Given the description of an element on the screen output the (x, y) to click on. 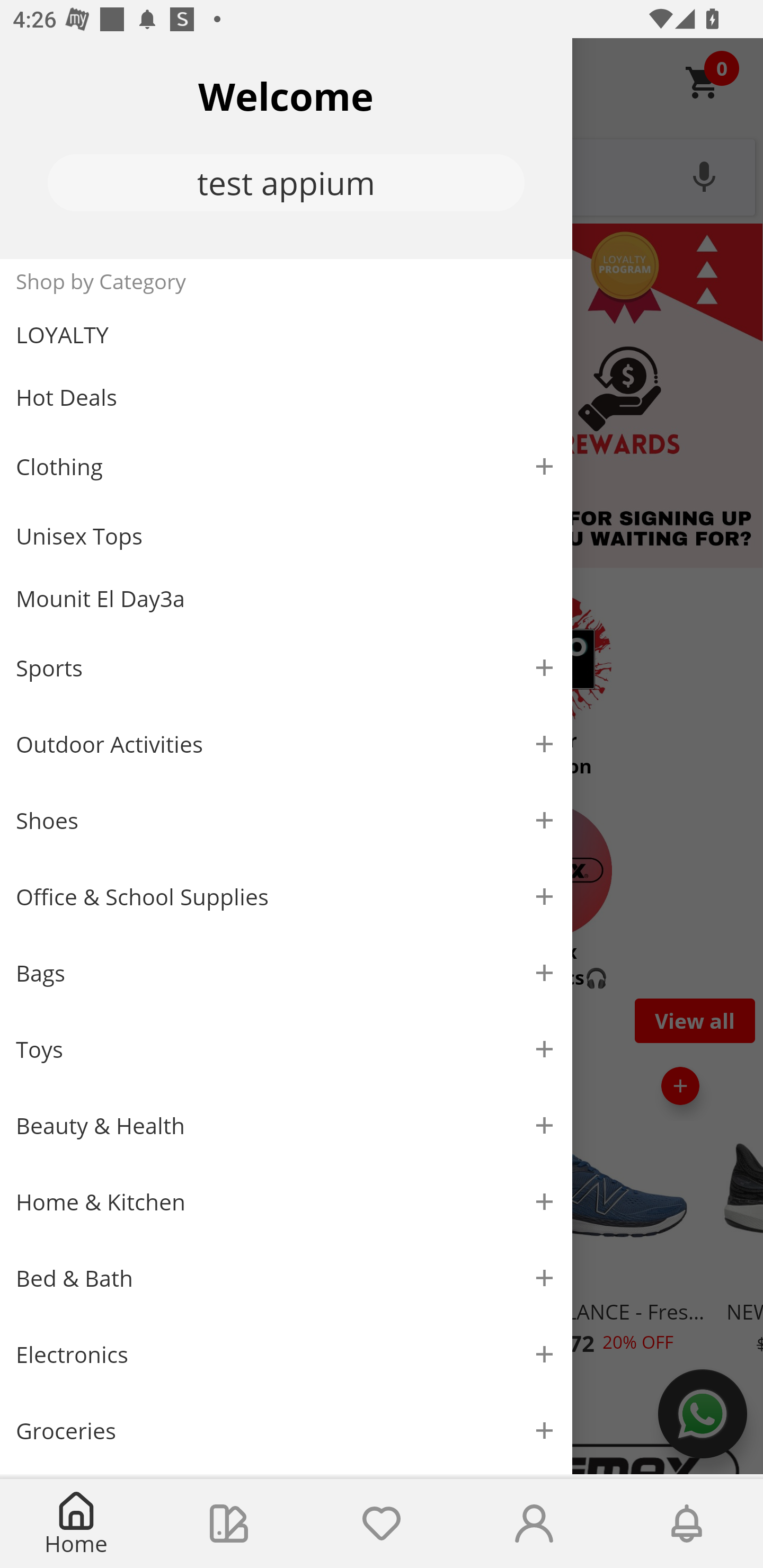
Welcome test appium (286, 147)
What are you looking for? (381, 175)
LOYALTY (286, 334)
Hot Deals (286, 396)
Clothing (286, 466)
Unisex Tops (286, 535)
Mounit El Day3a (286, 598)
Sports (286, 667)
Outdoor Activities (286, 743)
Shoes (286, 820)
Office & School Supplies (286, 896)
Bags (286, 972)
Toys (286, 1049)
Beauty & Health (286, 1125)
Home & Kitchen (286, 1201)
Bed & Bath (286, 1278)
Electronics (286, 1354)
Groceries (286, 1430)
Collections (228, 1523)
Wishlist (381, 1523)
Account (533, 1523)
Notifications (686, 1523)
